Given the description of an element on the screen output the (x, y) to click on. 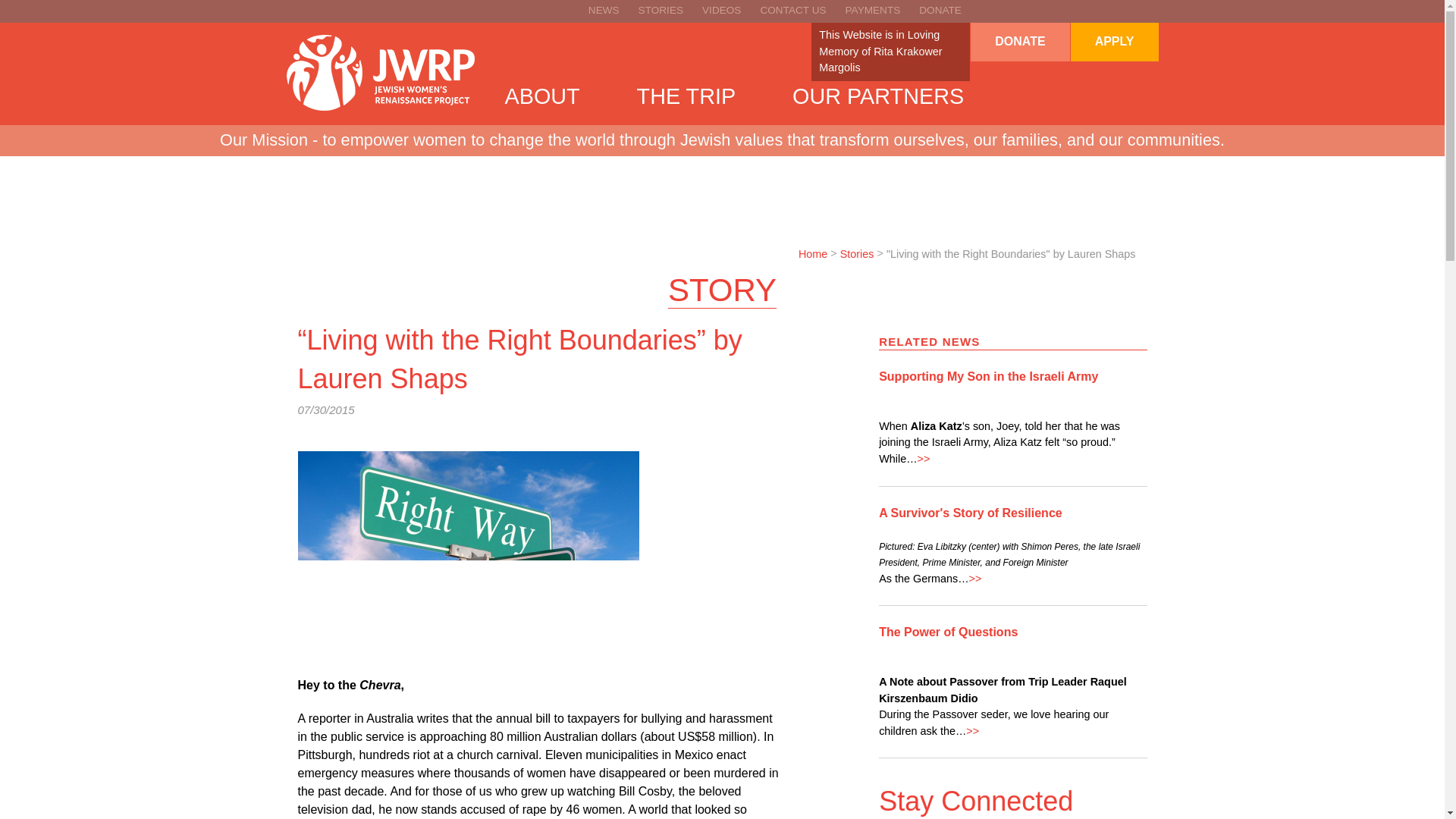
PAYMENTS (873, 9)
CONTACT US (792, 9)
ABOUT (542, 96)
VIDEOS (721, 9)
APPLY (1114, 41)
DONATE (1019, 41)
NEWS (604, 9)
DONATE (939, 9)
STORIES (660, 9)
This Website is in Loving Memory of Rita Krakower Margolis (880, 50)
THE TRIP (686, 96)
OUR PARTNERS (877, 96)
